Given the description of an element on the screen output the (x, y) to click on. 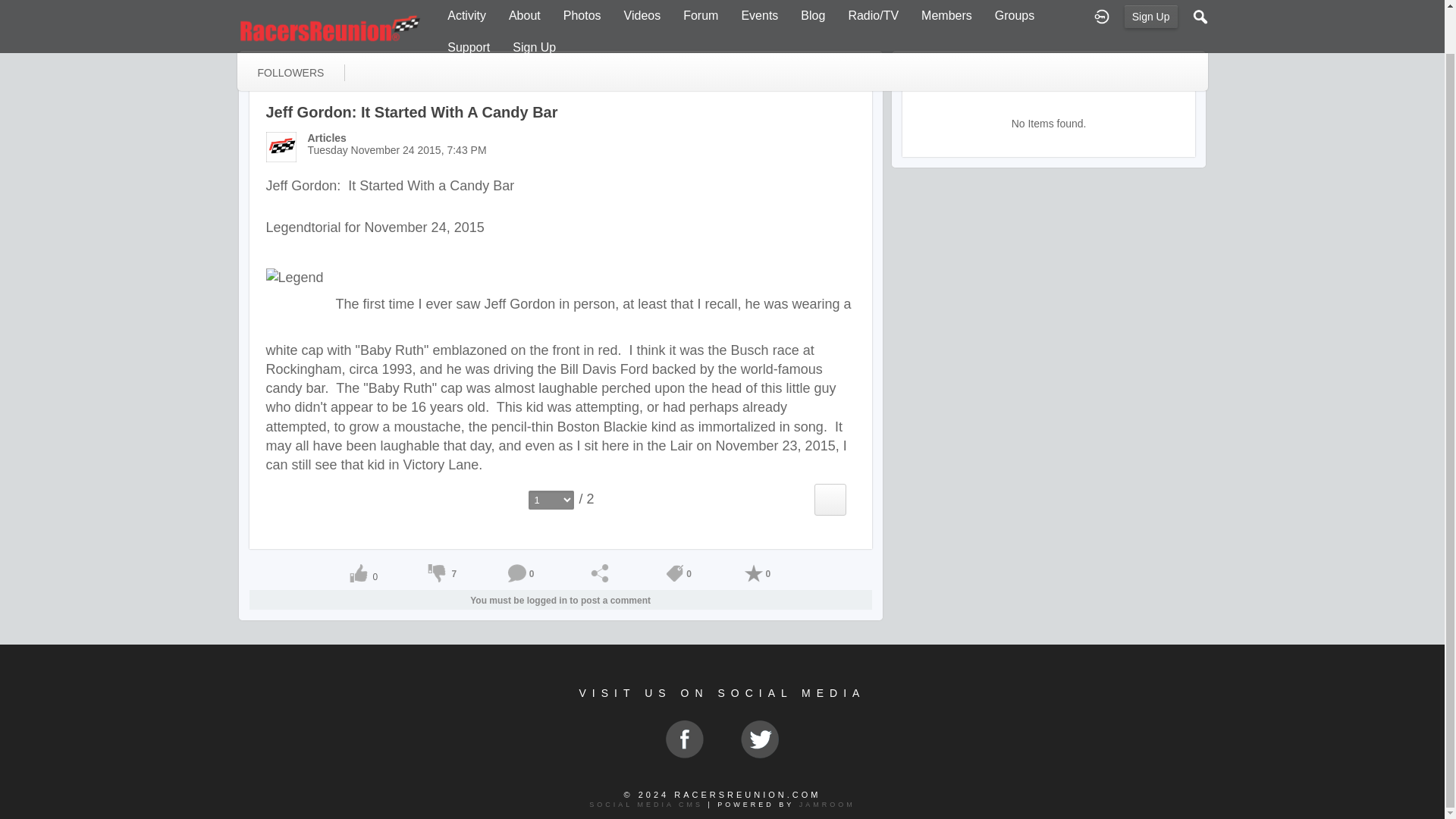
Like (358, 573)
Share This with your Followers (599, 573)
racersreunion.com (330, 4)
Sign Up (534, 8)
Blog (263, 64)
Support (467, 8)
FOLLOWERS (290, 26)
Jeff Gordon: It... (537, 64)
Post Your Comment (516, 573)
Legendtorials (425, 64)
